Given the description of an element on the screen output the (x, y) to click on. 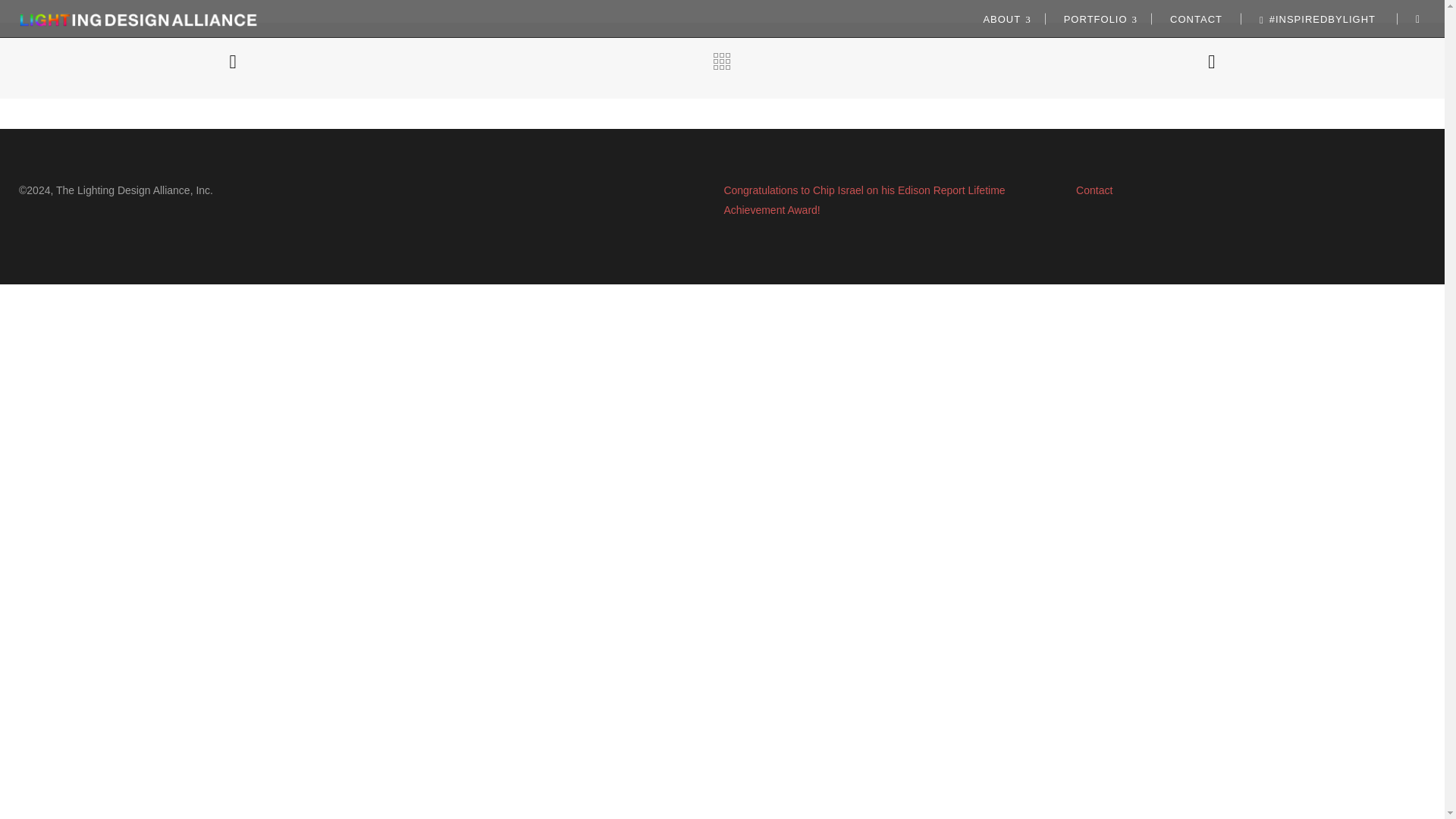
PORTFOLIO (1098, 18)
ABOUT (1004, 18)
CONTACT (1196, 18)
